Given the description of an element on the screen output the (x, y) to click on. 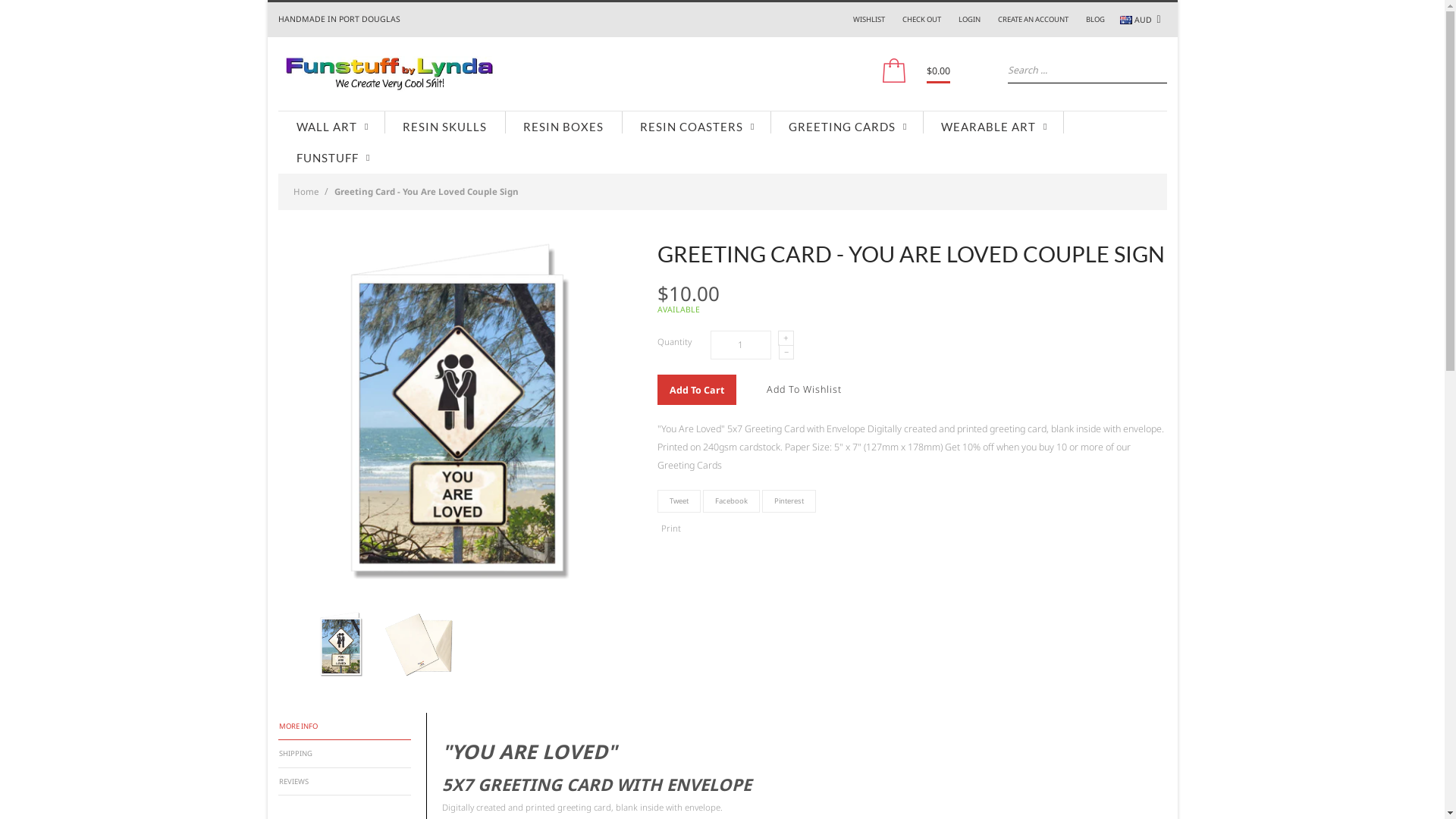
Home Element type: text (304, 191)
+ Element type: text (785, 337)
RESIN COASTERS Element type: text (695, 126)
Greeting Card - You Are Loved Couple Sign Element type: hover (340, 643)
Print Element type: text (670, 527)
WALL ART Element type: text (330, 126)
LOGIN Element type: text (969, 19)
WEARABLE ART Element type: text (992, 126)
Add To Wishlist Element type: text (803, 389)
RESIN BOXES Element type: text (563, 126)
RESIN SKULLS Element type: text (443, 126)
Add To Cart Element type: text (695, 389)
CREATE AN ACCOUNT Element type: text (1033, 19)
Greeting Card - You Are Loved Couple Sign Element type: hover (417, 643)
Tweet Element type: text (677, 500)
FUNSTUFF Element type: text (331, 157)
Pinterest Element type: text (788, 500)
$0.00 Element type: text (938, 71)
BLOG Element type: text (1095, 19)
MORE INFO Element type: text (342, 726)
REVIEWS Element type: text (342, 781)
GREETING CARDS Element type: text (846, 126)
Facebook Element type: text (730, 500)
WISHLIST Element type: text (867, 19)
CHECK OUT Element type: text (921, 19)
SHIPPING Element type: text (342, 753)
